Given the description of an element on the screen output the (x, y) to click on. 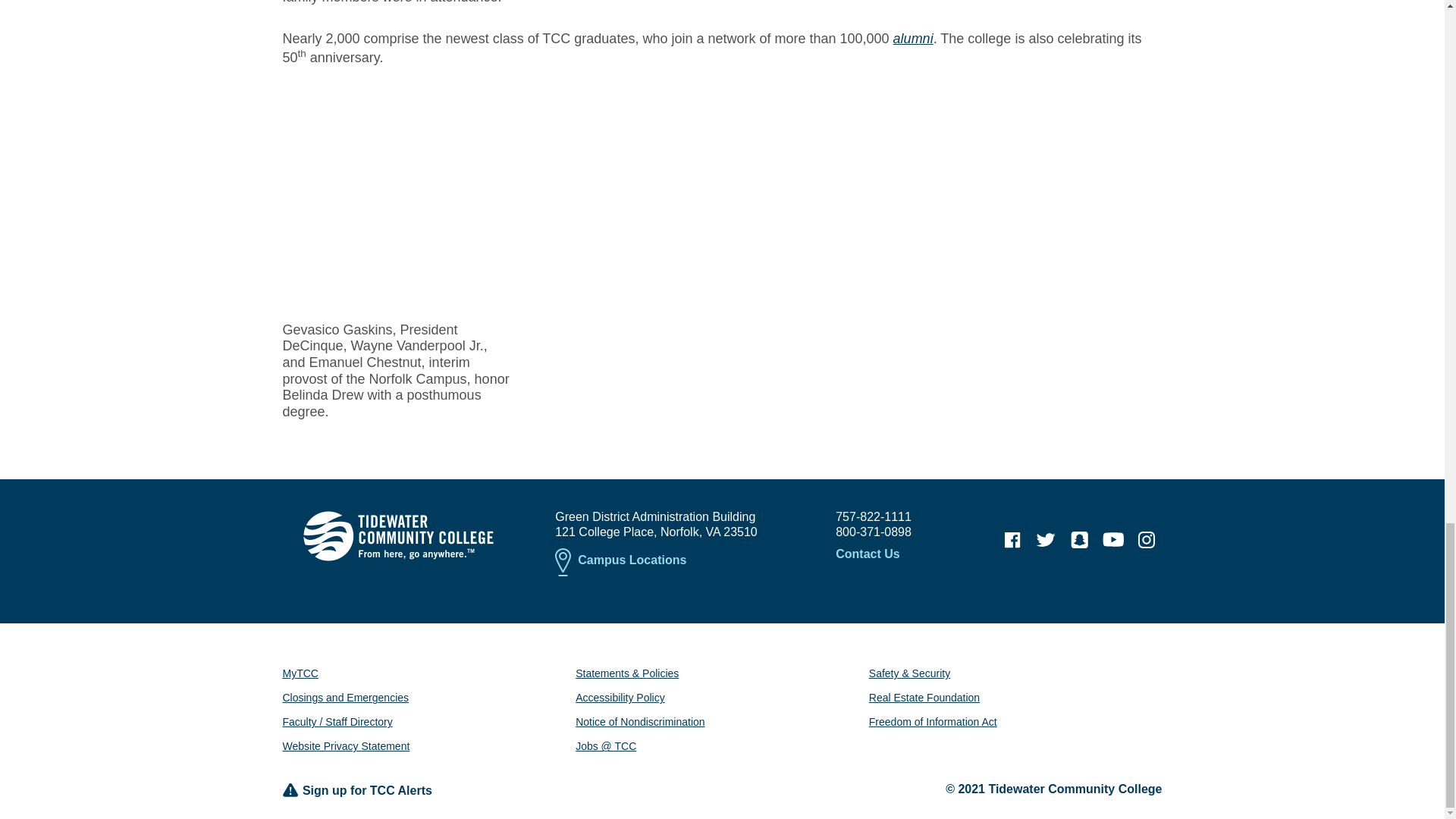
TCC on Snapchat (1079, 539)
TCC on Facebook (1012, 539)
TCC on Instagram (1146, 539)
TCC on YouTube (1112, 539)
Tidewater Community College (398, 535)
TCC on Twitter (1045, 539)
